Given the description of an element on the screen output the (x, y) to click on. 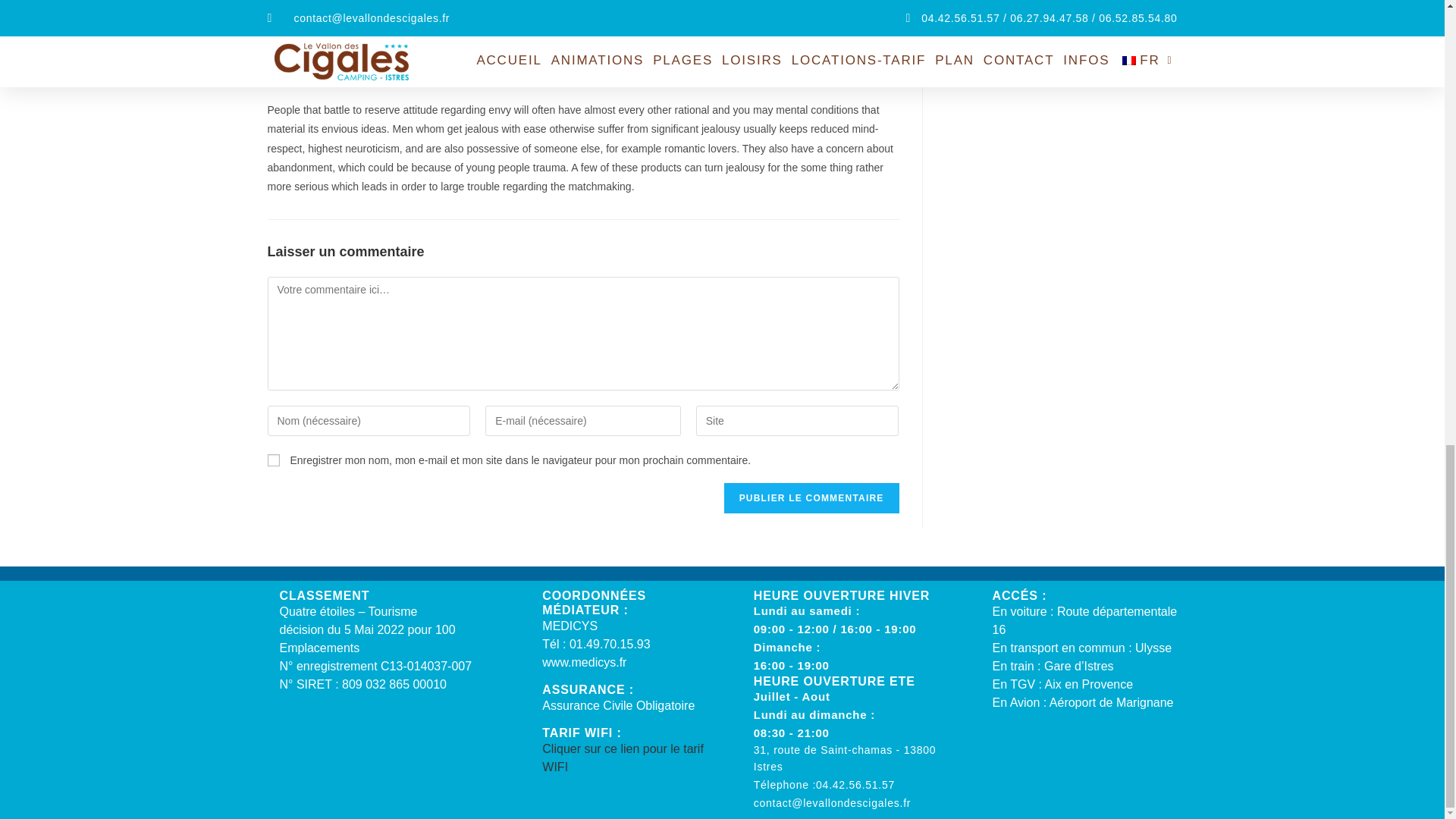
Publier le commentaire (811, 498)
yes (272, 460)
Cliquer sur ce lien pour le tarif WIFI (622, 757)
Publier le commentaire (811, 498)
